Given the description of an element on the screen output the (x, y) to click on. 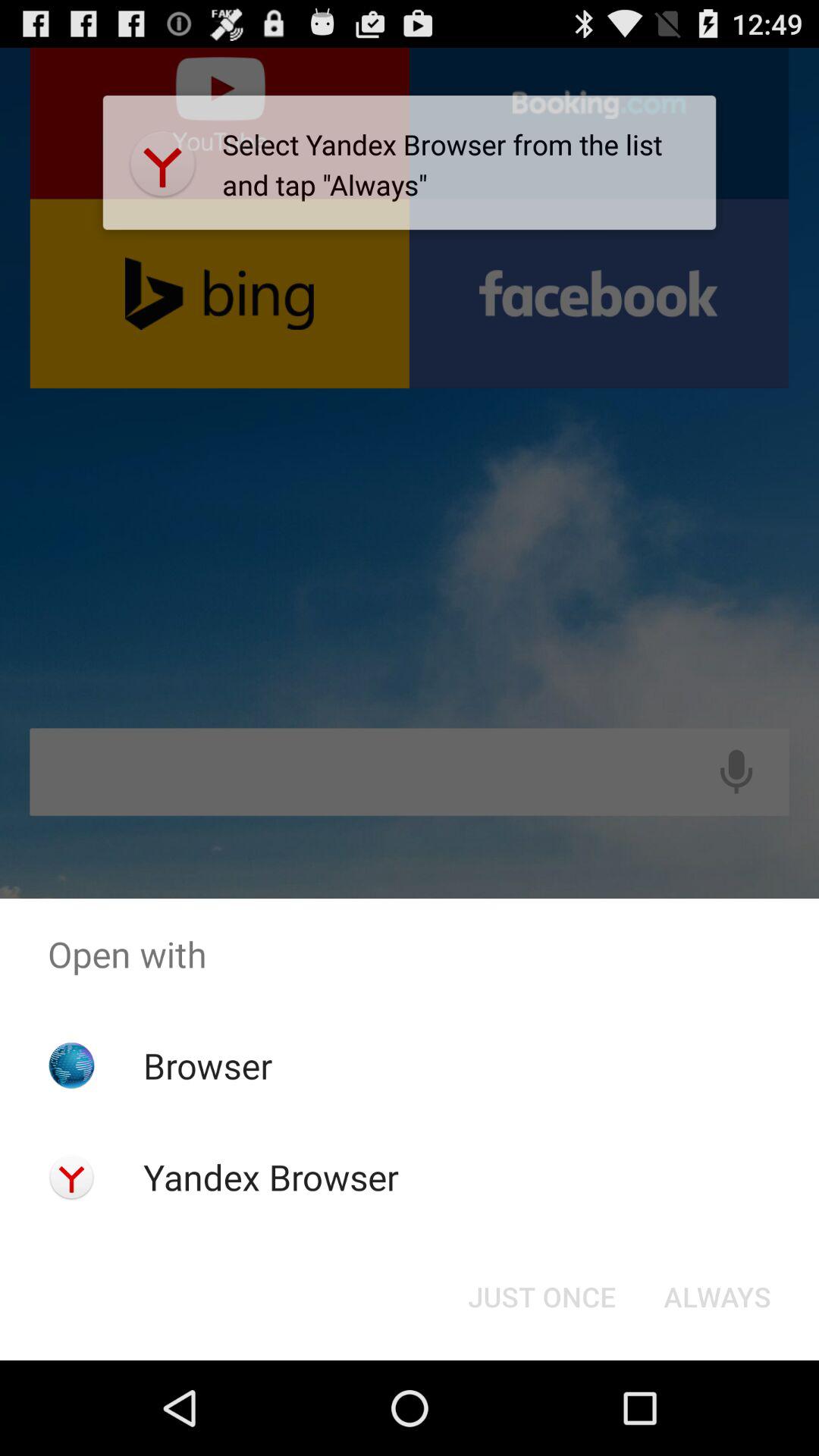
click app below browser icon (270, 1176)
